Given the description of an element on the screen output the (x, y) to click on. 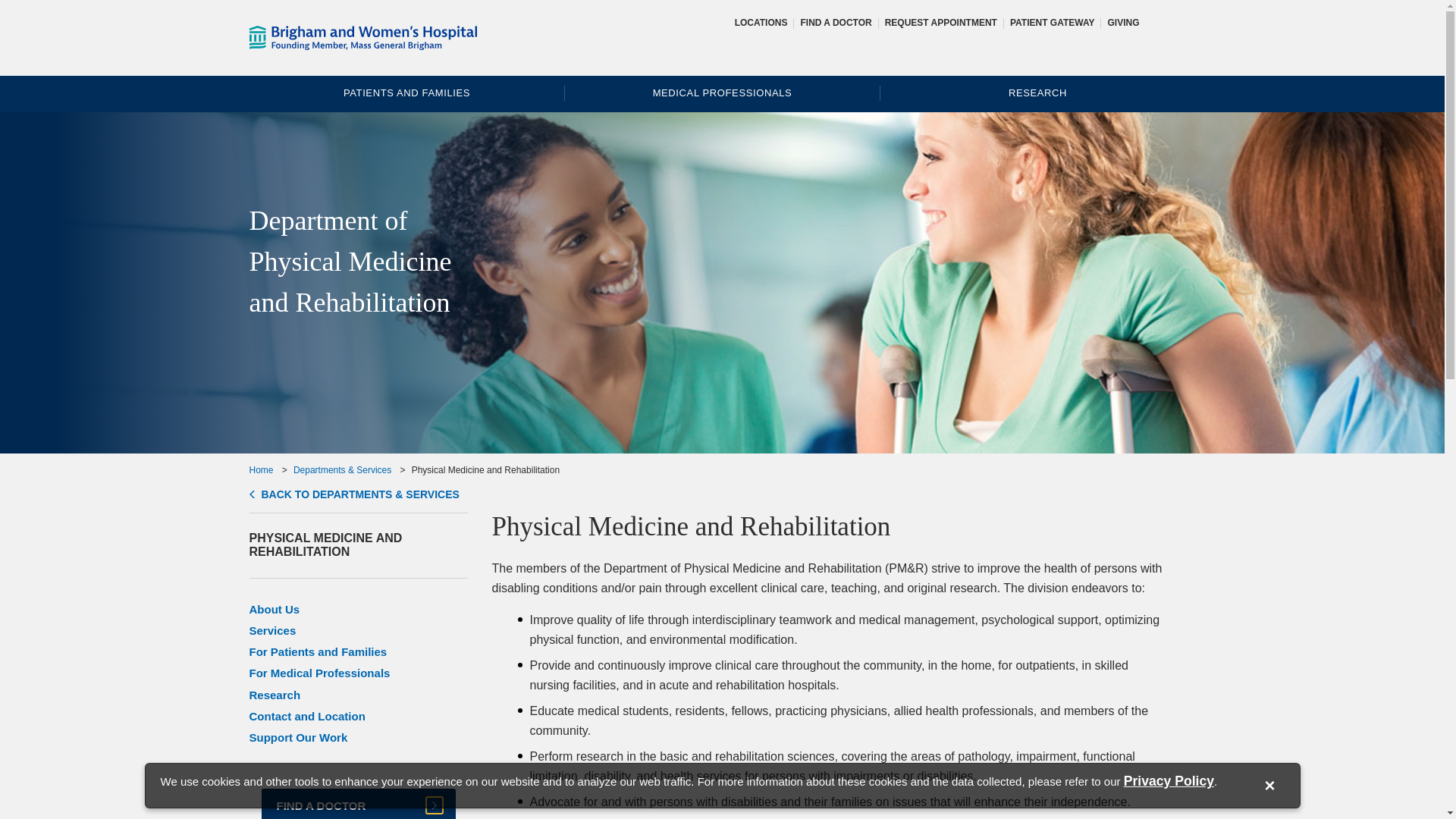
LOCATIONS (761, 22)
Services (271, 630)
FIND A DOCTOR (357, 803)
MEDICAL PROFESSIONALS (721, 93)
Information for Medical Professionals (721, 93)
RESEARCH (1037, 93)
Patient Gateway (1052, 22)
For Patients and Families (317, 651)
Support Our Work (297, 737)
Home (260, 470)
Contact and Location (306, 716)
About Us (273, 608)
About Us (273, 608)
Research (273, 694)
